Given the description of an element on the screen output the (x, y) to click on. 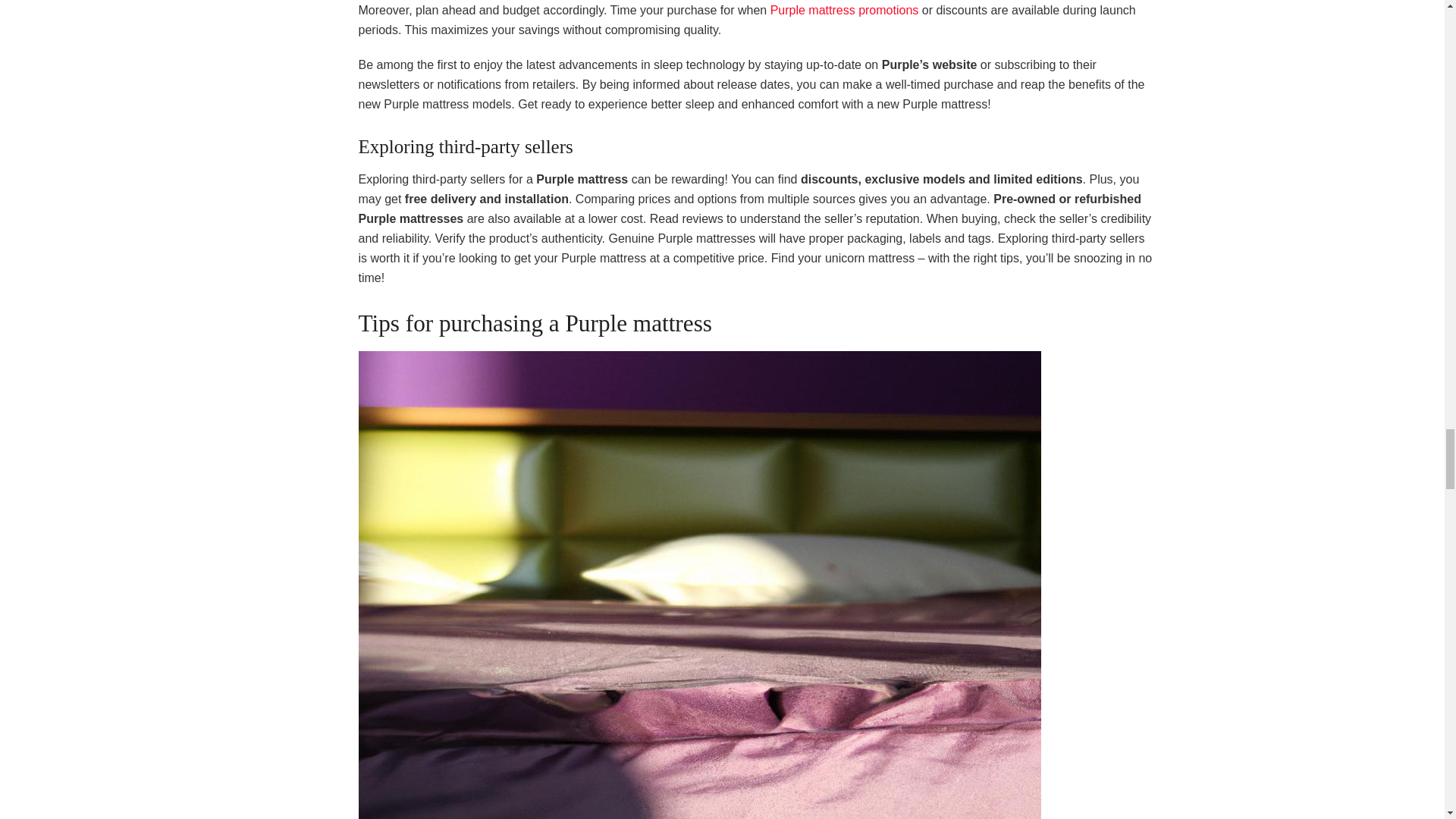
Purple mattress promotions (844, 10)
